Given the description of an element on the screen output the (x, y) to click on. 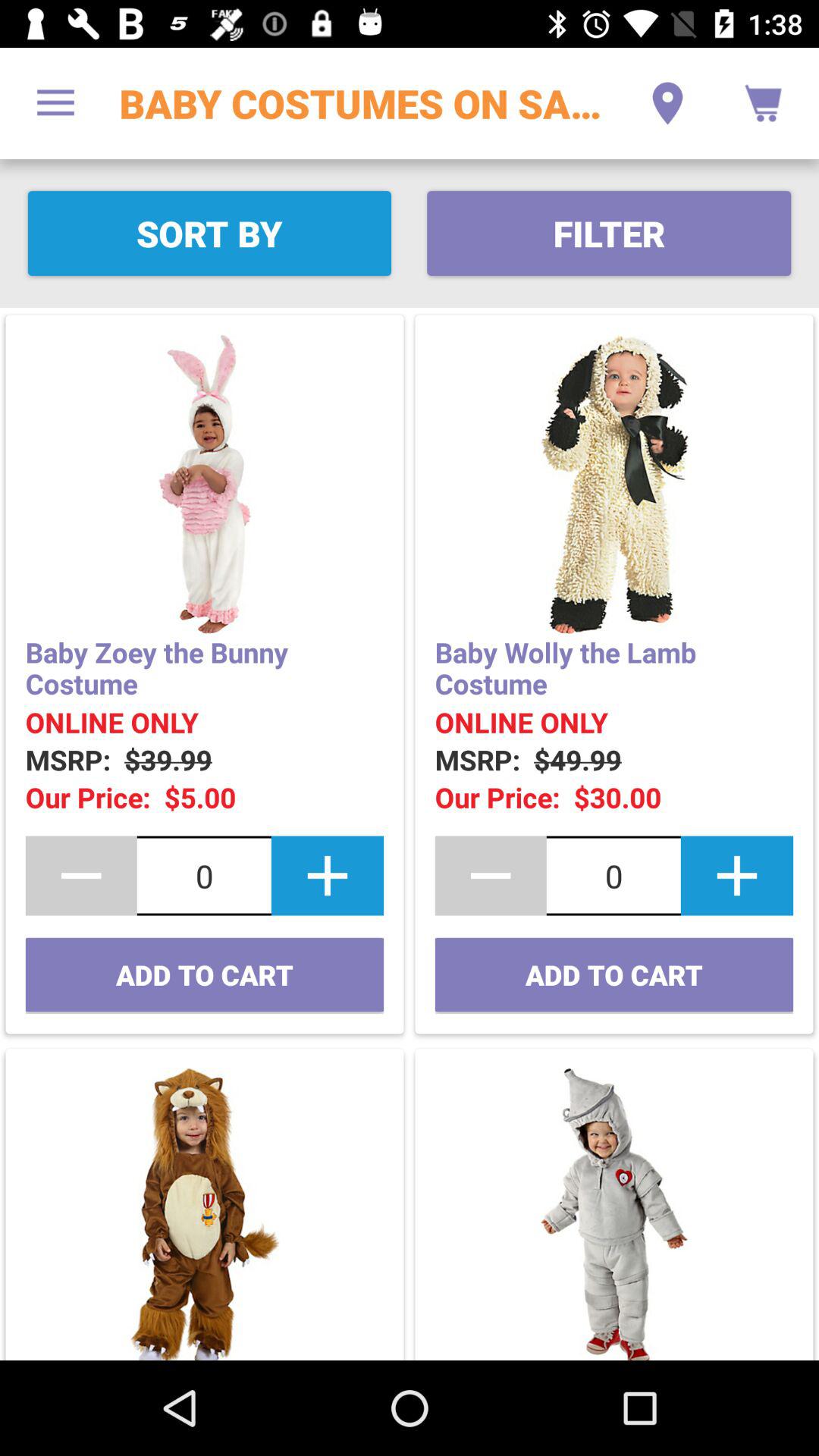
tap the item next to baby costumes on (55, 103)
